Given the description of an element on the screen output the (x, y) to click on. 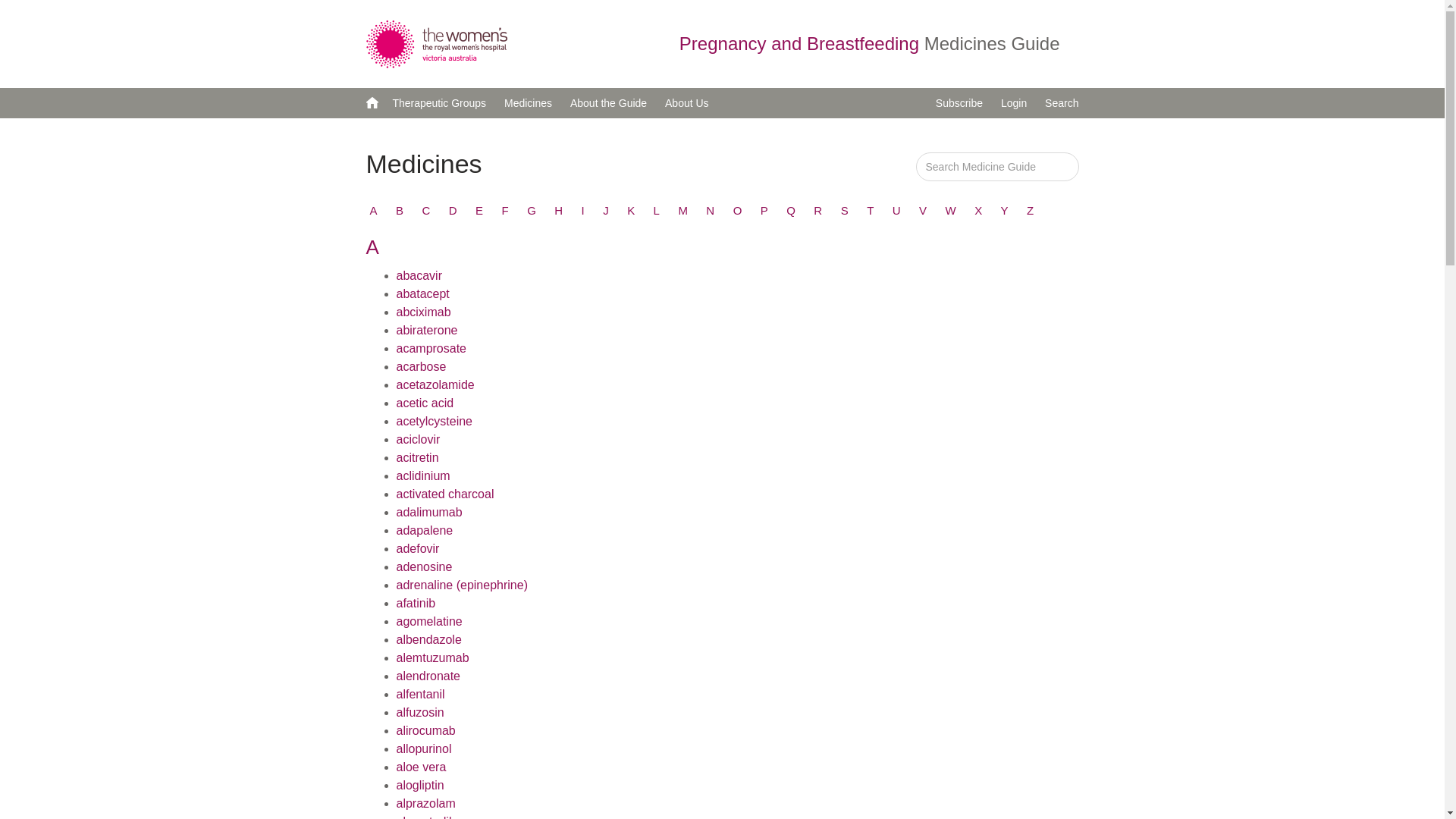
G Element type: text (531, 209)
aclidinium Element type: text (422, 475)
W Element type: text (950, 209)
allopurinol Element type: text (423, 748)
adenosine Element type: text (423, 566)
P Element type: text (764, 209)
I Element type: text (582, 209)
abciximab Element type: text (422, 311)
X Element type: text (978, 209)
aciclovir Element type: text (417, 439)
Search Element type: text (1061, 102)
alirocumab Element type: text (425, 730)
E Element type: text (479, 209)
adalimumab Element type: text (428, 511)
acamprosate Element type: text (430, 348)
activated charcoal Element type: text (444, 493)
Therapeutic Groups Element type: text (439, 102)
Q Element type: text (790, 209)
alprazolam Element type: text (425, 803)
Pregnancy and Breastfeeding Medicines Guide Element type: text (879, 43)
adrenaline (epinephrine) Element type: text (461, 584)
acetic acid Element type: text (424, 402)
Subscribe Element type: text (958, 102)
O Element type: text (737, 209)
acarbose Element type: text (420, 366)
alemtuzumab Element type: text (431, 657)
N Element type: text (710, 209)
About the Guide Element type: text (608, 102)
S Element type: text (844, 209)
Medicines Element type: text (528, 102)
B Element type: text (399, 209)
abatacept Element type: text (421, 293)
V Element type: text (922, 209)
Z Element type: text (1029, 209)
alogliptin Element type: text (419, 784)
T Element type: text (869, 209)
A Element type: text (373, 209)
alendronate Element type: text (427, 675)
U Element type: text (896, 209)
acetazolamide Element type: text (434, 384)
acetylcysteine Element type: text (433, 420)
abacavir Element type: text (418, 275)
agomelatine Element type: text (428, 621)
albendazole Element type: text (428, 639)
abiraterone Element type: text (426, 329)
Y Element type: text (1004, 209)
H Element type: text (558, 209)
Login Element type: text (1013, 102)
adefovir Element type: text (417, 548)
adapalene Element type: text (423, 530)
L Element type: text (656, 209)
M Element type: text (682, 209)
F Element type: text (505, 209)
D Element type: text (452, 209)
alfentanil Element type: text (419, 693)
R Element type: text (817, 209)
About Us Element type: text (687, 102)
acitretin Element type: text (416, 457)
C Element type: text (425, 209)
aloe vera Element type: text (420, 766)
K Element type: text (630, 209)
J Element type: text (605, 209)
alfuzosin Element type: text (419, 712)
afatinib Element type: text (415, 602)
